Given the description of an element on the screen output the (x, y) to click on. 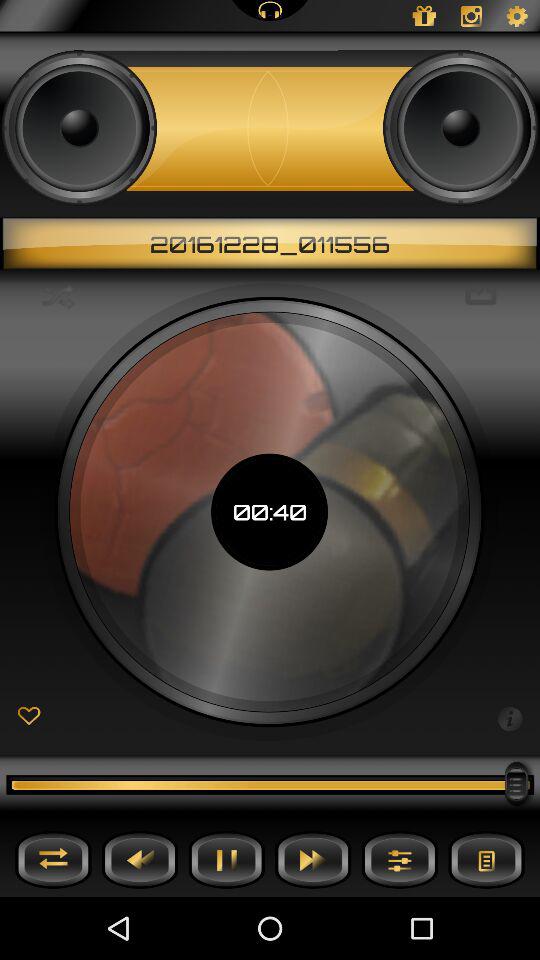
go backward in audio track (140, 859)
